Given the description of an element on the screen output the (x, y) to click on. 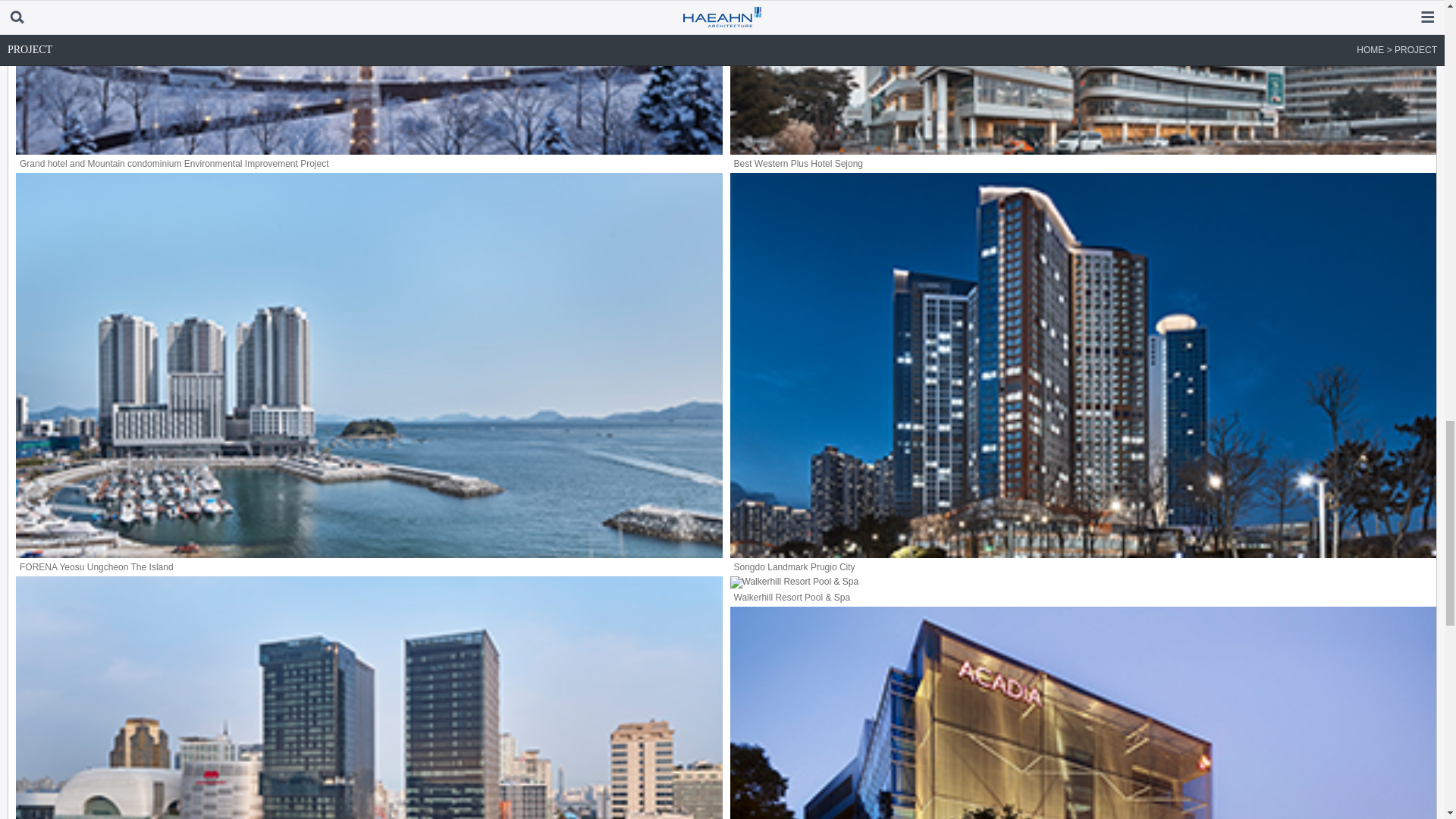
Best Western Plus Hotel Sejong (1082, 86)
